Given the description of an element on the screen output the (x, y) to click on. 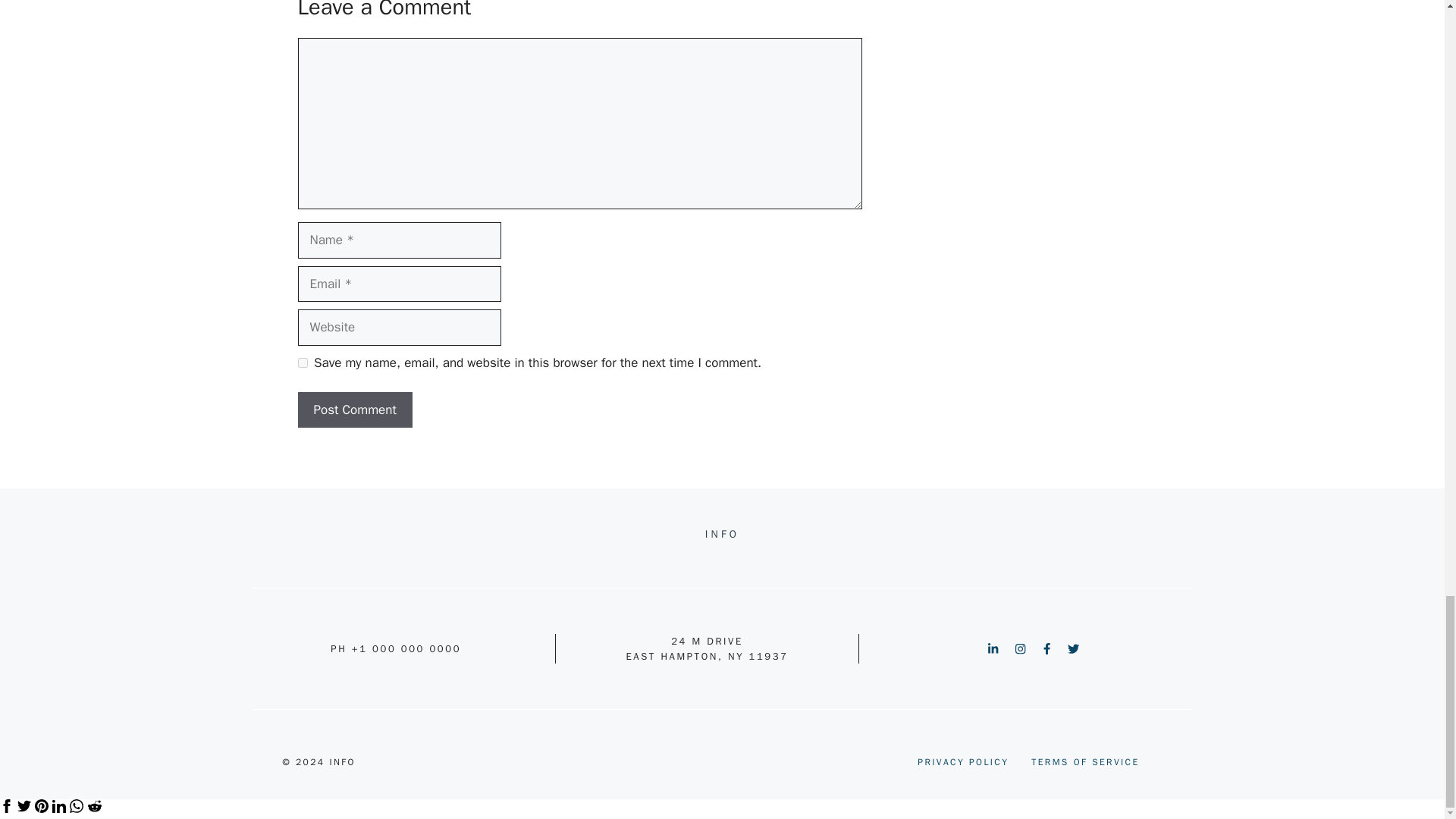
Post Comment (354, 410)
yes (302, 362)
